Given the description of an element on the screen output the (x, y) to click on. 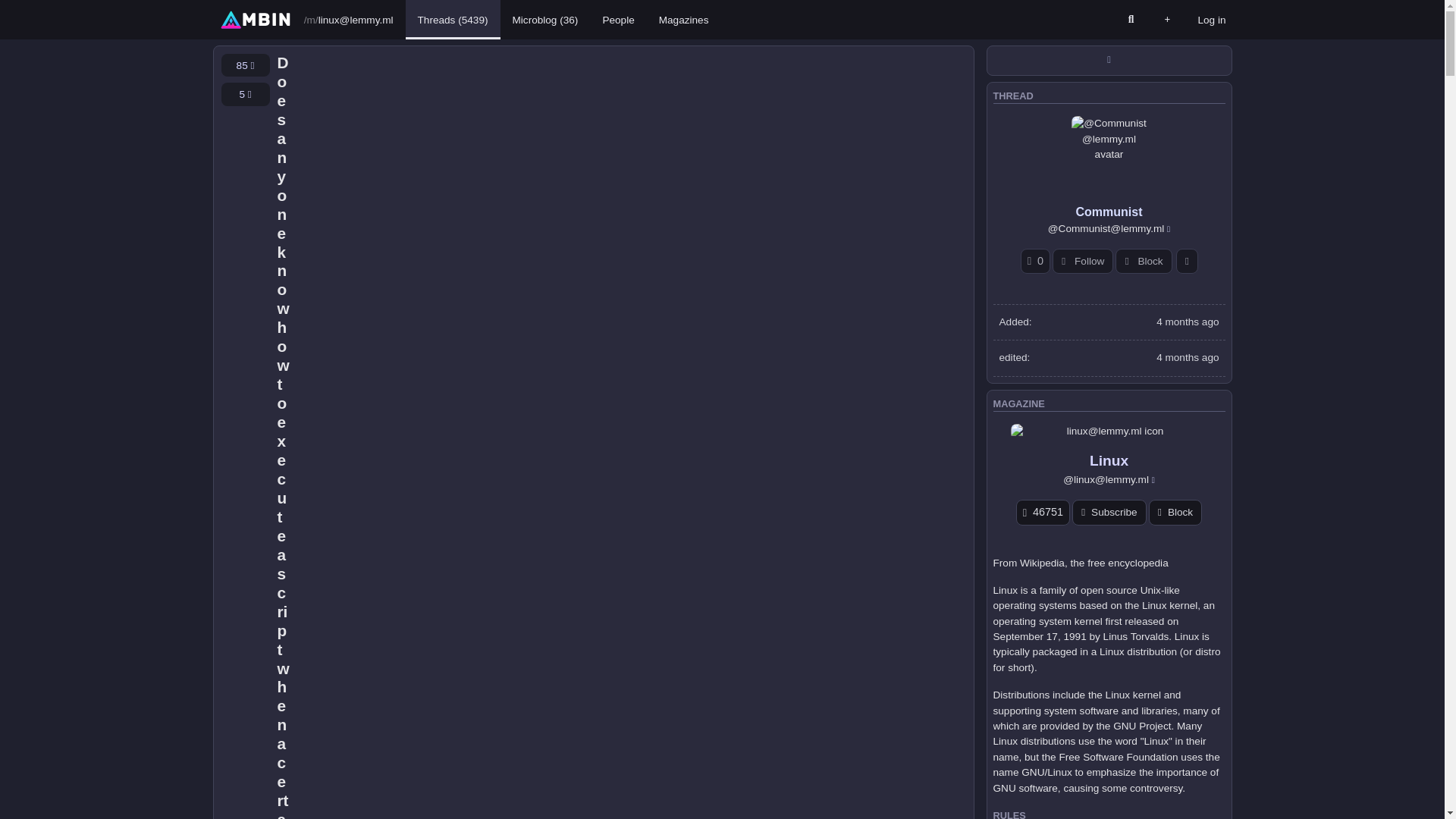
85 (245, 65)
Go to content (218, 6)
Homepage (254, 19)
Magazines (683, 19)
Favorite (245, 65)
Search (1130, 19)
Add (1166, 19)
Reduce (245, 93)
People (617, 19)
5 (245, 93)
